Given the description of an element on the screen output the (x, y) to click on. 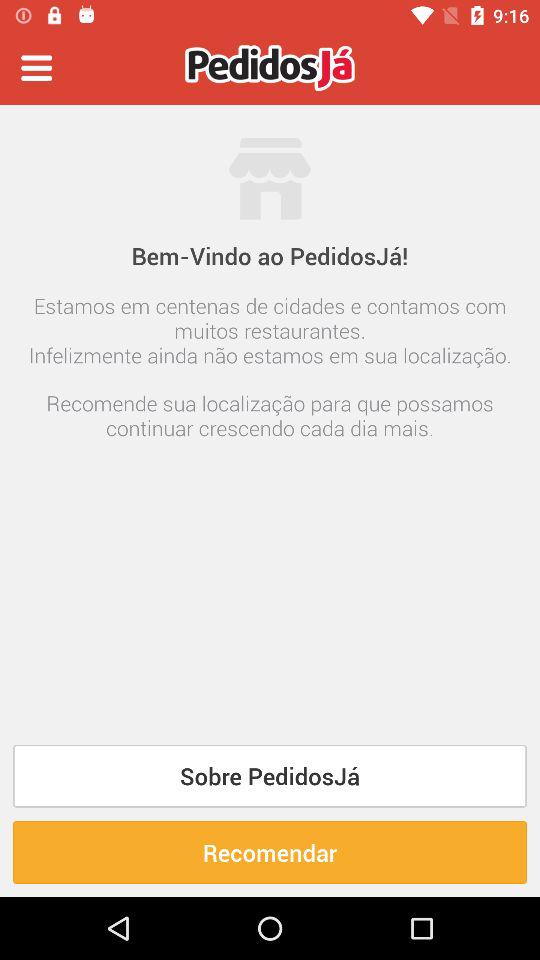
open main menu (36, 68)
